Given the description of an element on the screen output the (x, y) to click on. 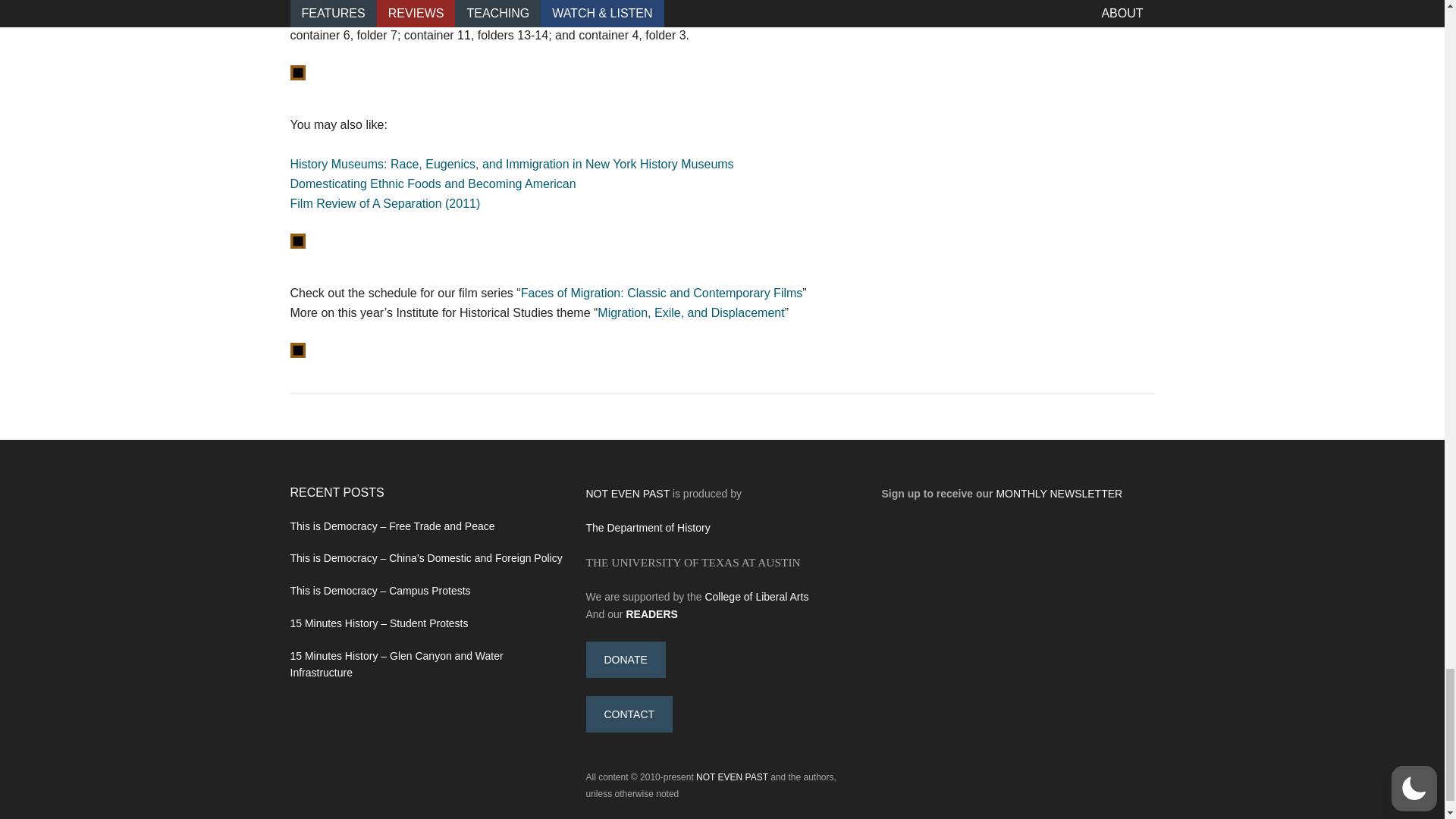
Migration, Exile, and Displacement (690, 312)
Faces of Migration: Classic and Contemporary Films (662, 292)
Domesticating Ethnic Foods and Becoming American (432, 183)
